Given the description of an element on the screen output the (x, y) to click on. 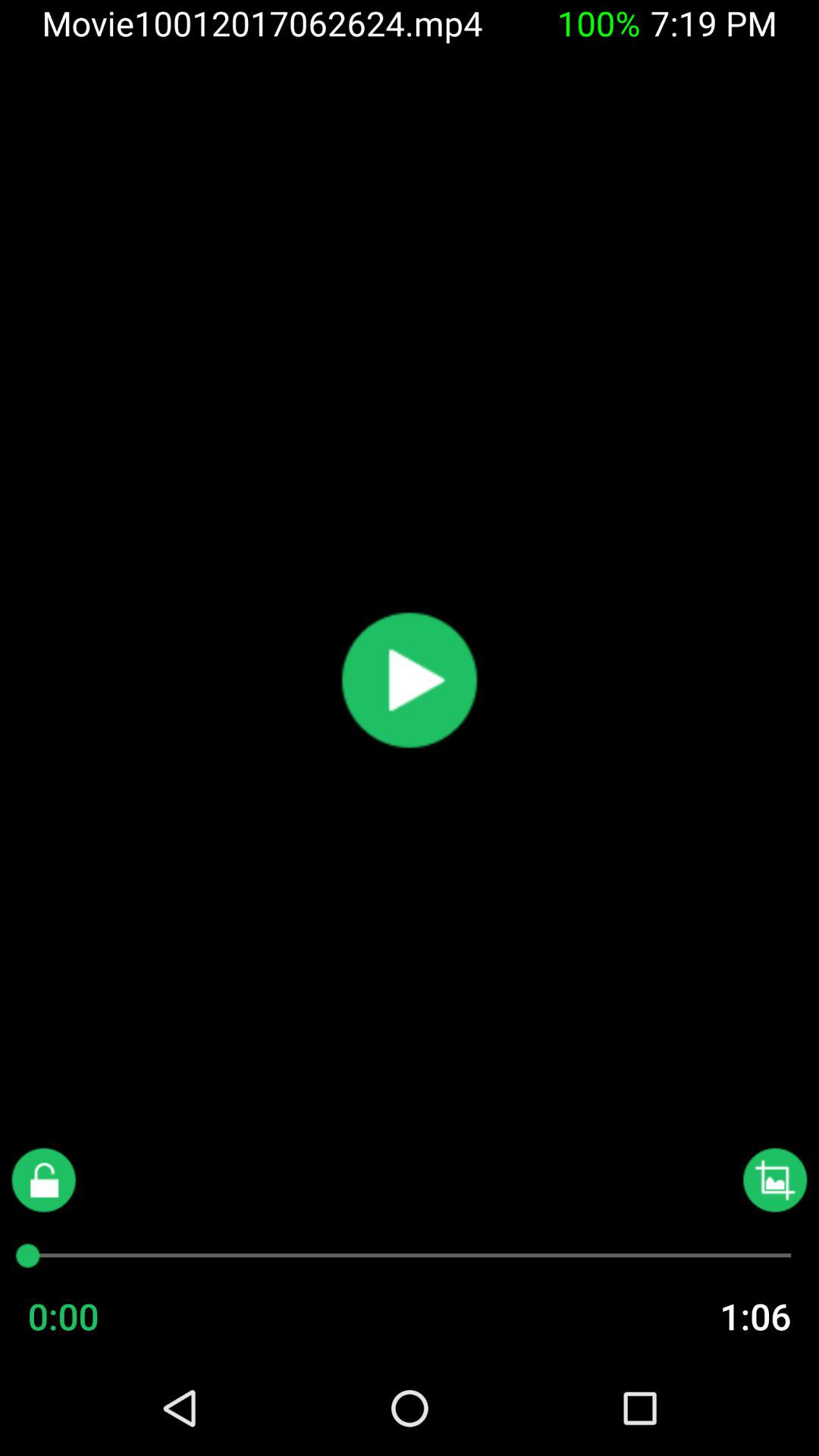
change video rotation (775, 1179)
